Given the description of an element on the screen output the (x, y) to click on. 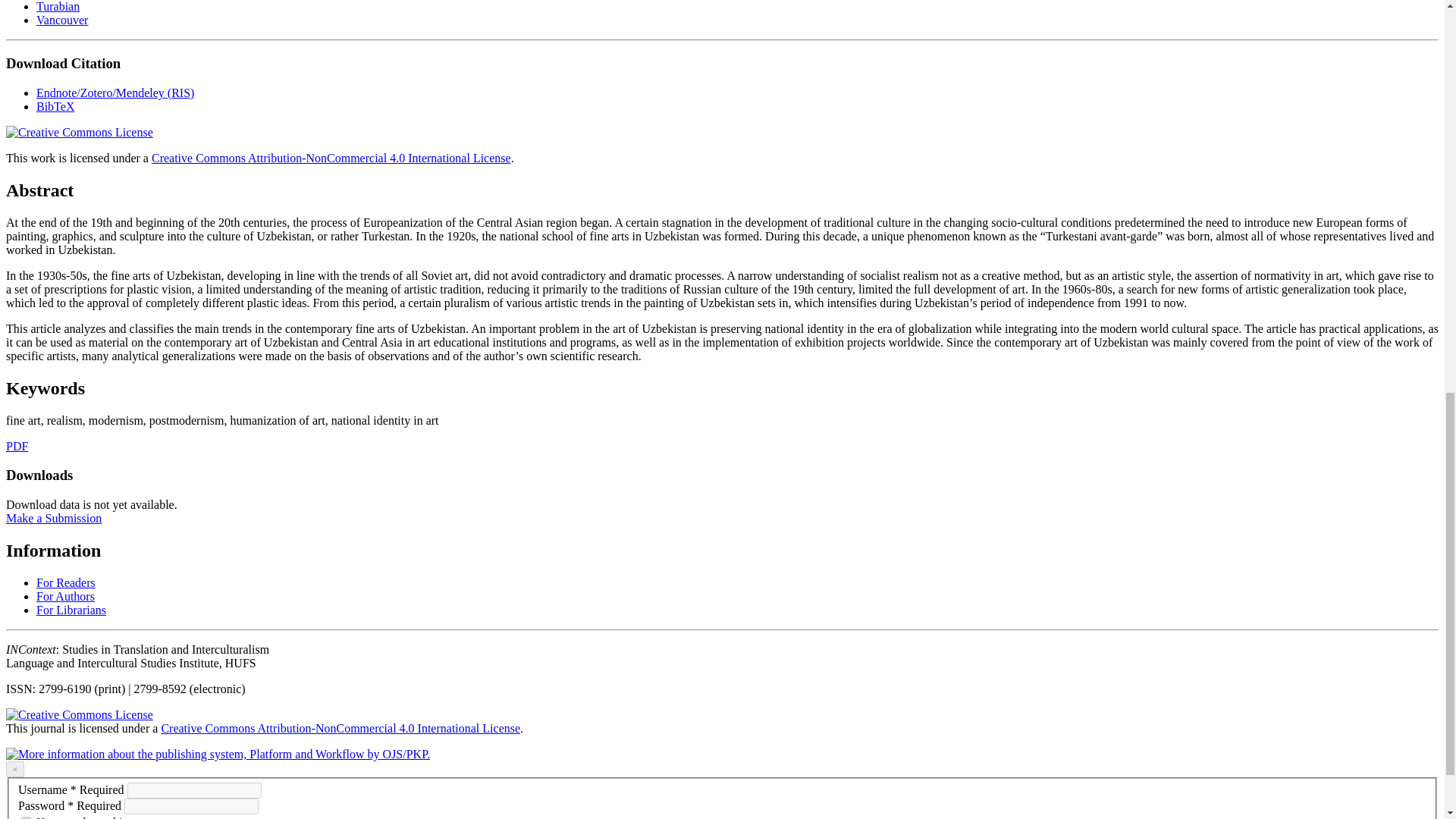
BibTeX (55, 106)
PDF (16, 445)
Vancouver (61, 19)
Turabian (58, 6)
